Given the description of an element on the screen output the (x, y) to click on. 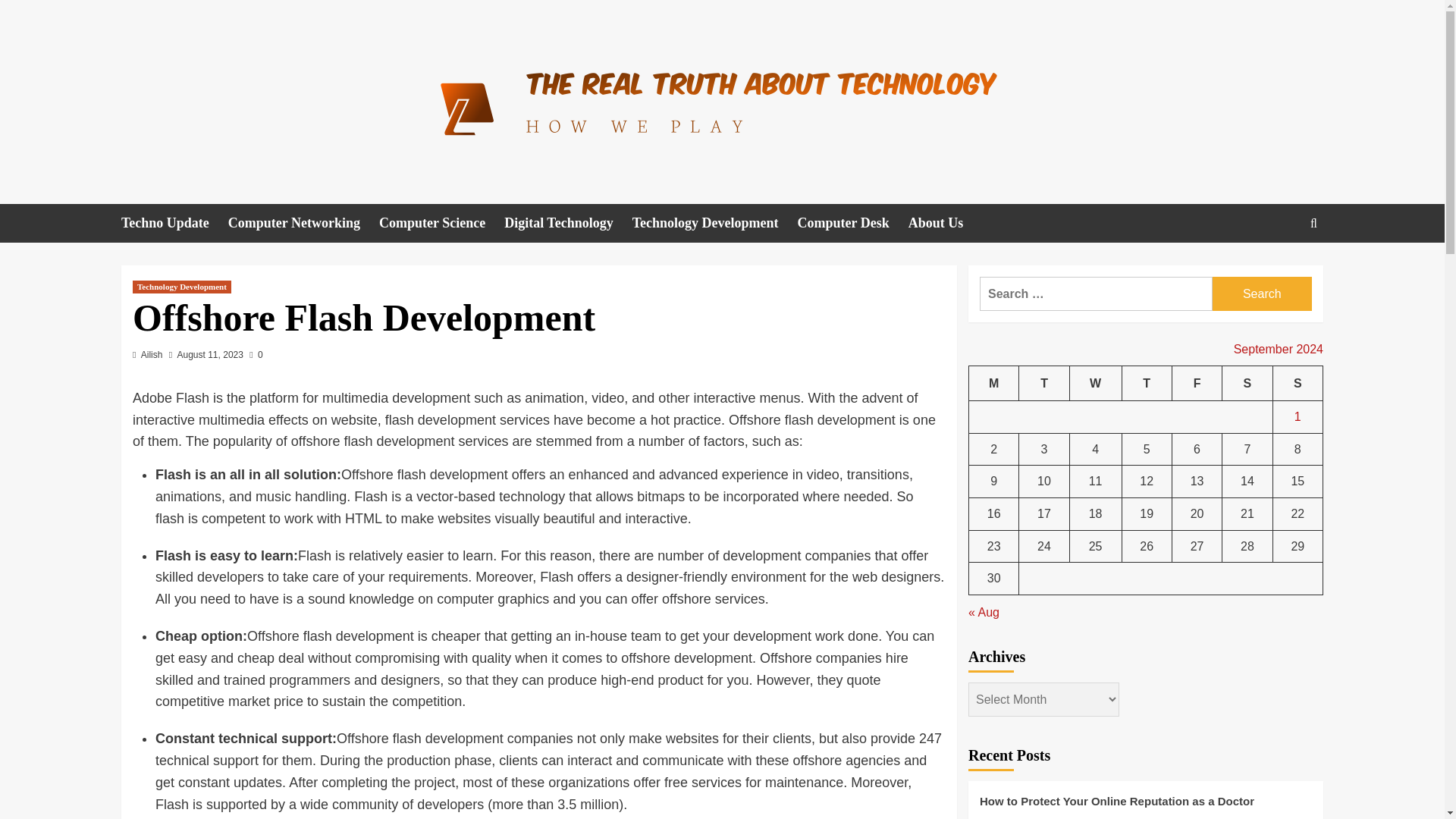
Ailish (152, 354)
Computer Desk (852, 222)
Computer Science (440, 222)
Search (1261, 293)
Monday (994, 383)
Technology Development (181, 286)
Friday (1196, 383)
Sunday (1297, 383)
0 (255, 354)
Digital Technology (567, 222)
